Given the description of an element on the screen output the (x, y) to click on. 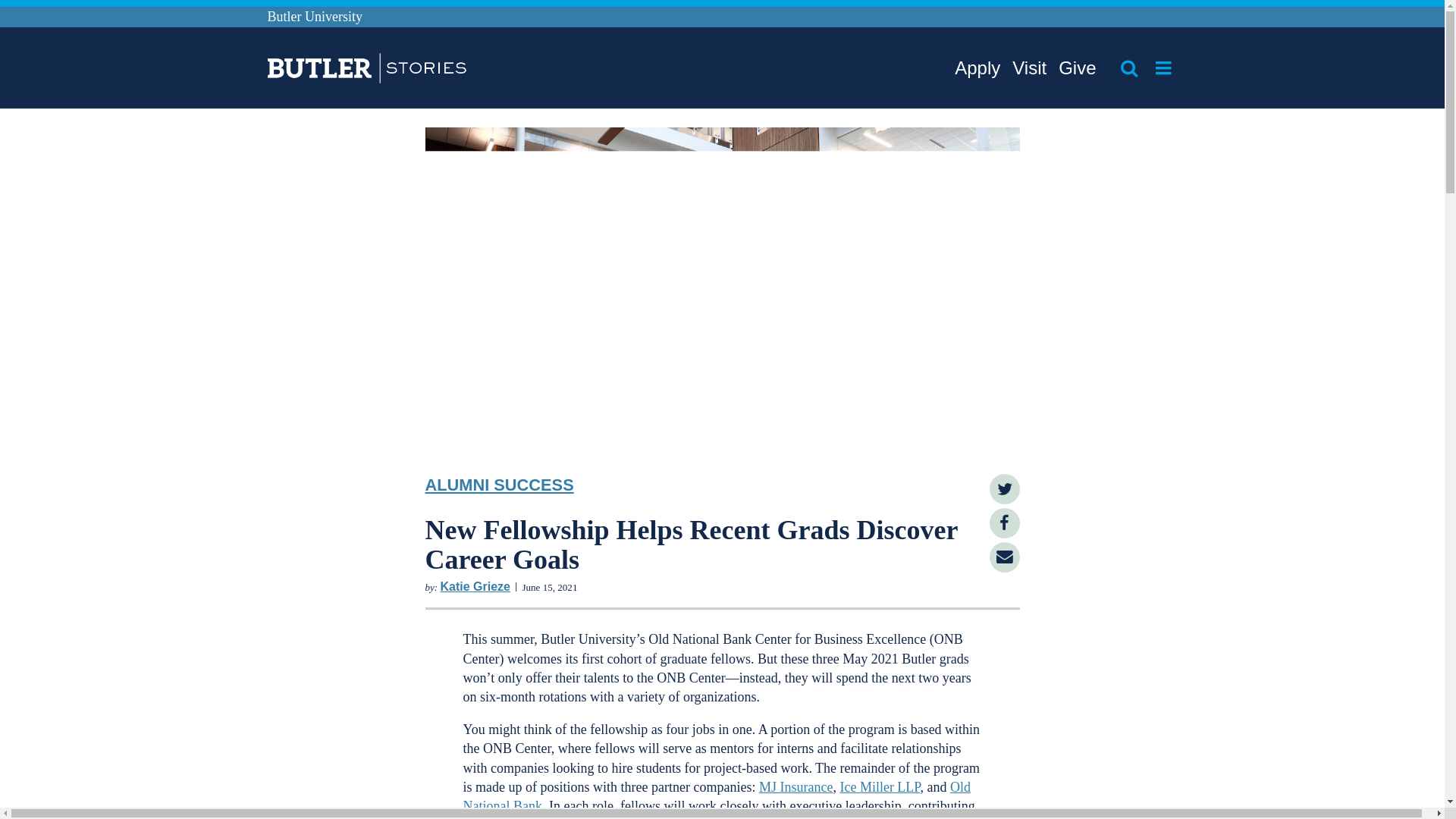
Visit (1028, 68)
Apply (977, 68)
Give (1077, 68)
Butler University (313, 16)
Stories (344, 69)
